Given the description of an element on the screen output the (x, y) to click on. 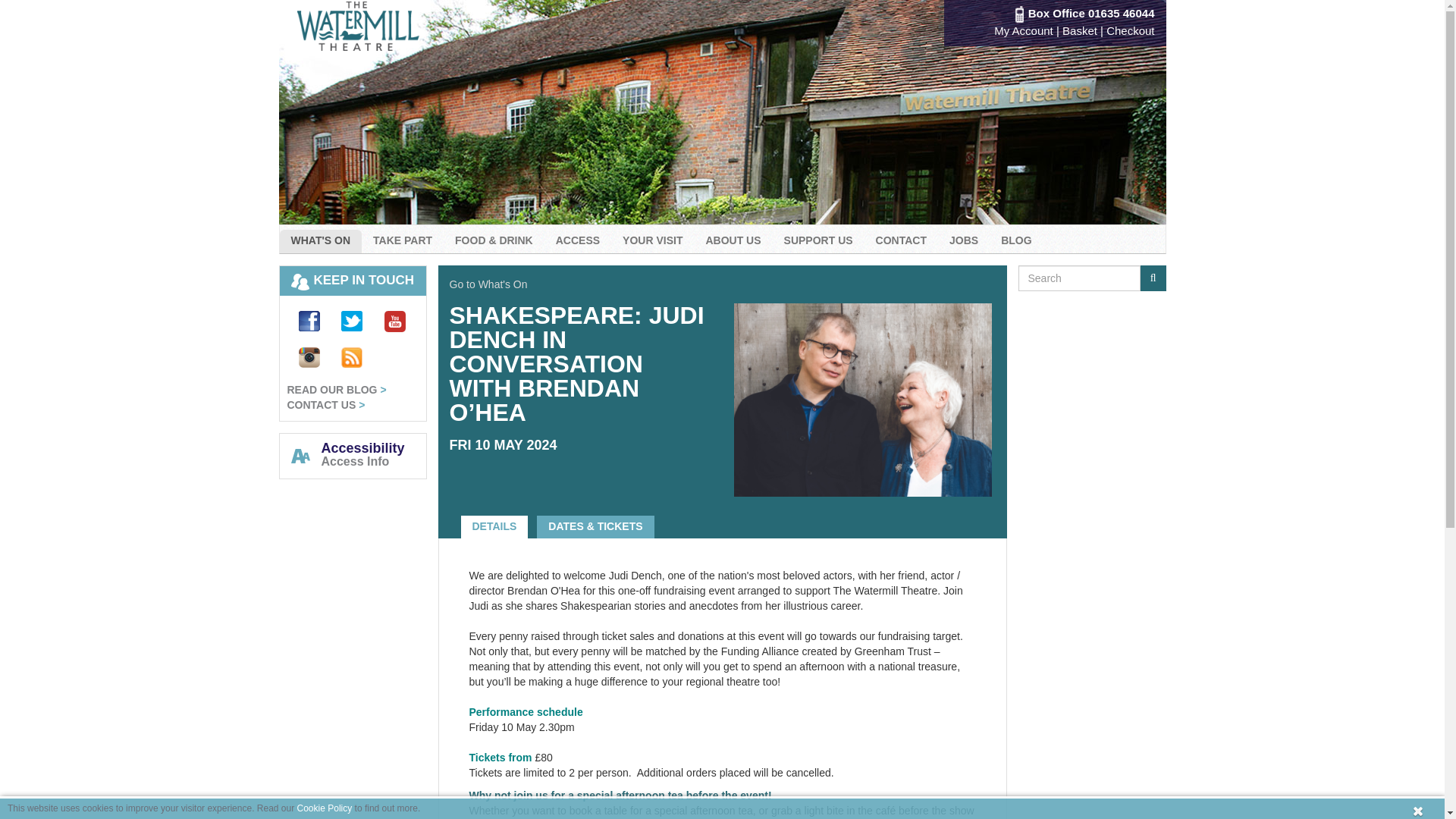
twitter (341, 327)
Cookie Policy (324, 808)
My Account (1023, 30)
instagram (298, 363)
Checkout (1130, 30)
youtube (385, 327)
rss (341, 363)
Basket (1079, 30)
WHAT'S ON (320, 241)
TAKE PART (402, 241)
YOUR VISIT (652, 241)
facebook (298, 327)
ACCESS (577, 241)
